Given the description of an element on the screen output the (x, y) to click on. 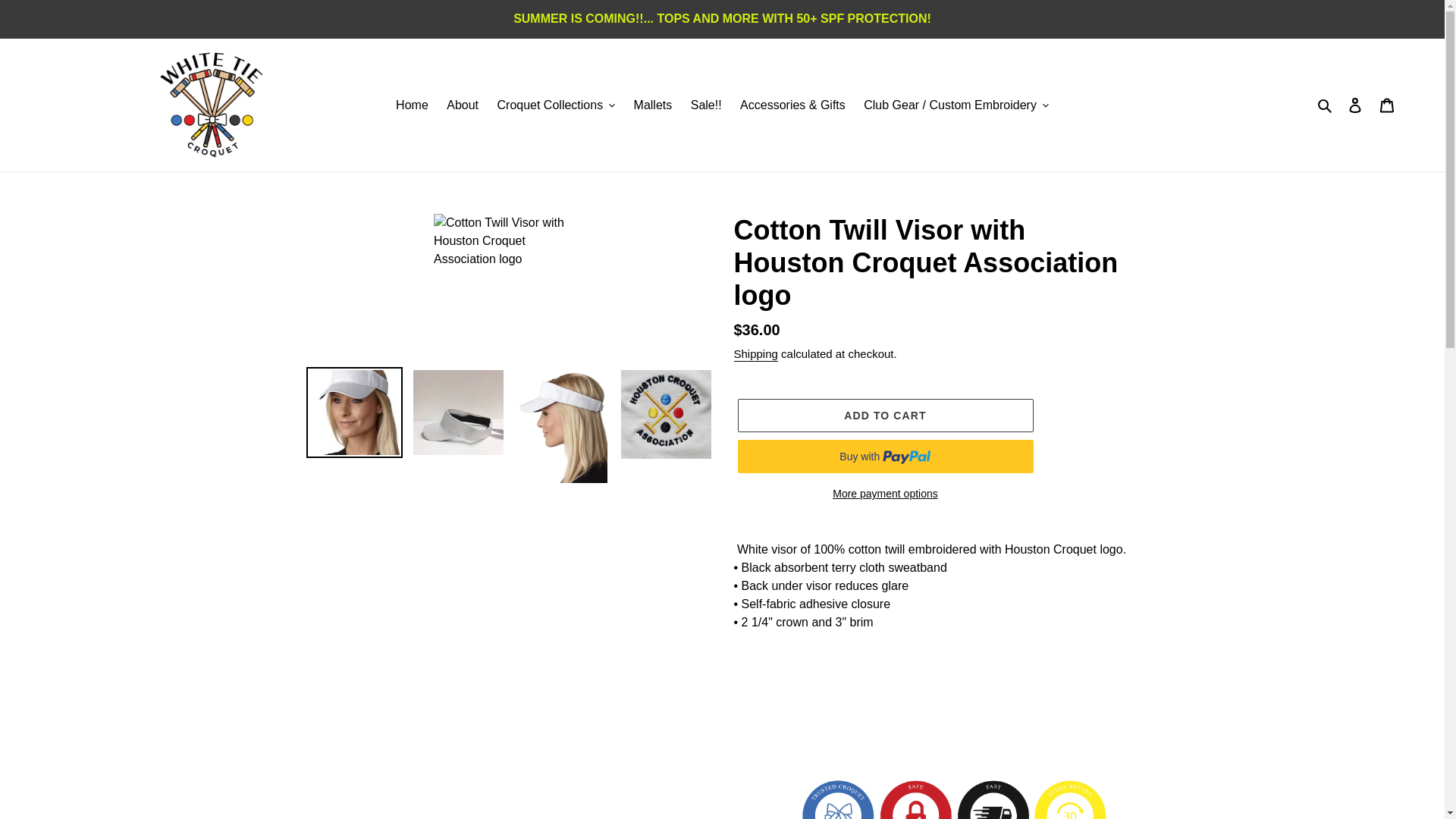
Mallets (652, 105)
Log in (1355, 104)
About (462, 105)
Sale!! (705, 105)
Cart (1387, 104)
Croquet Collections (556, 105)
Home (411, 105)
Search (1326, 105)
